Given the description of an element on the screen output the (x, y) to click on. 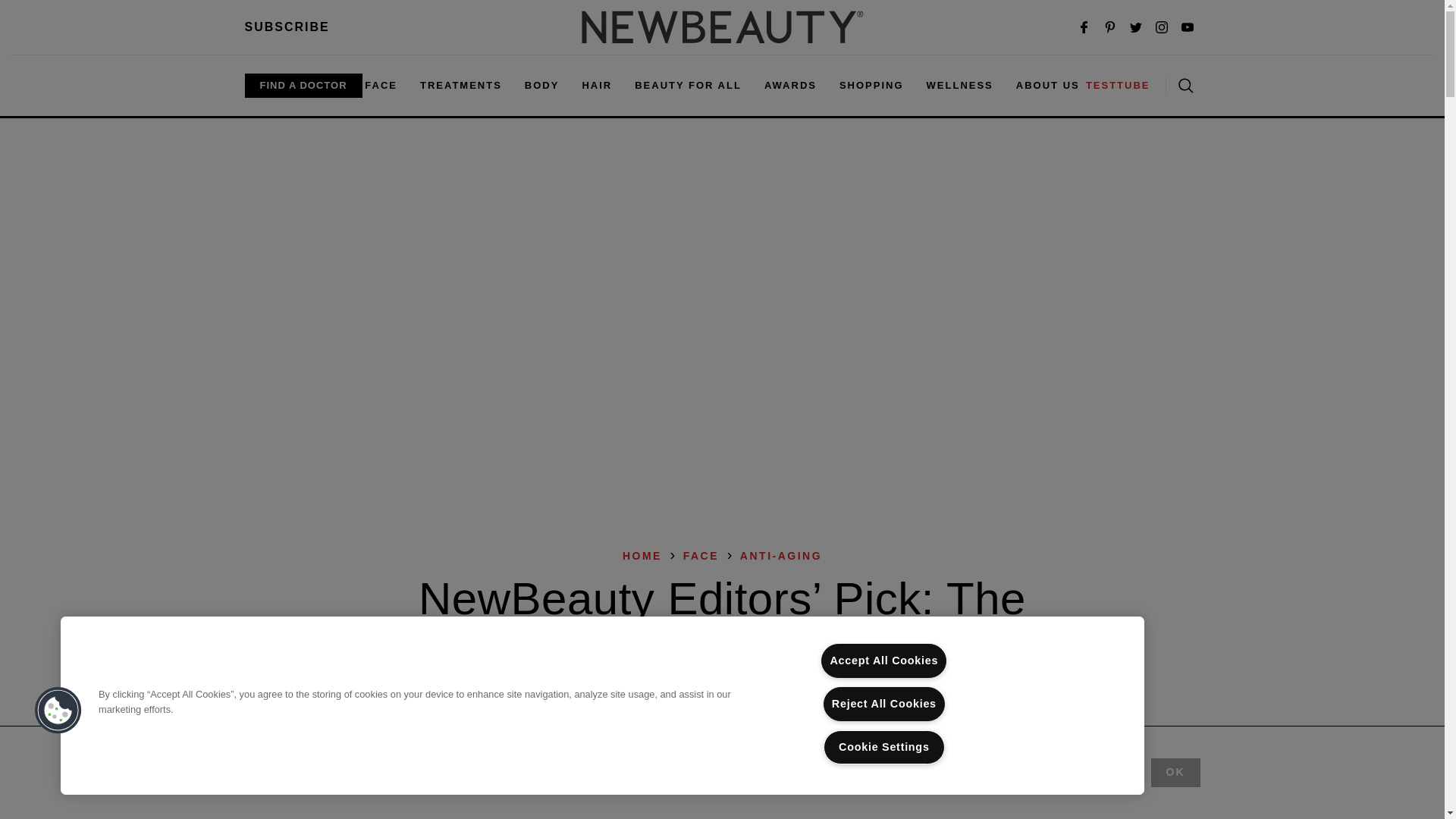
NewBeauty (722, 26)
Cookies Button (57, 710)
FIND A DOCTOR (302, 85)
BODY (541, 85)
Instagram (1161, 27)
SUBSCRIBE (286, 27)
FACE (381, 85)
Twitter (1135, 27)
Facebook (1084, 27)
TREATMENTS (461, 85)
Youtube (1186, 27)
Pinterest (1109, 27)
